Given the description of an element on the screen output the (x, y) to click on. 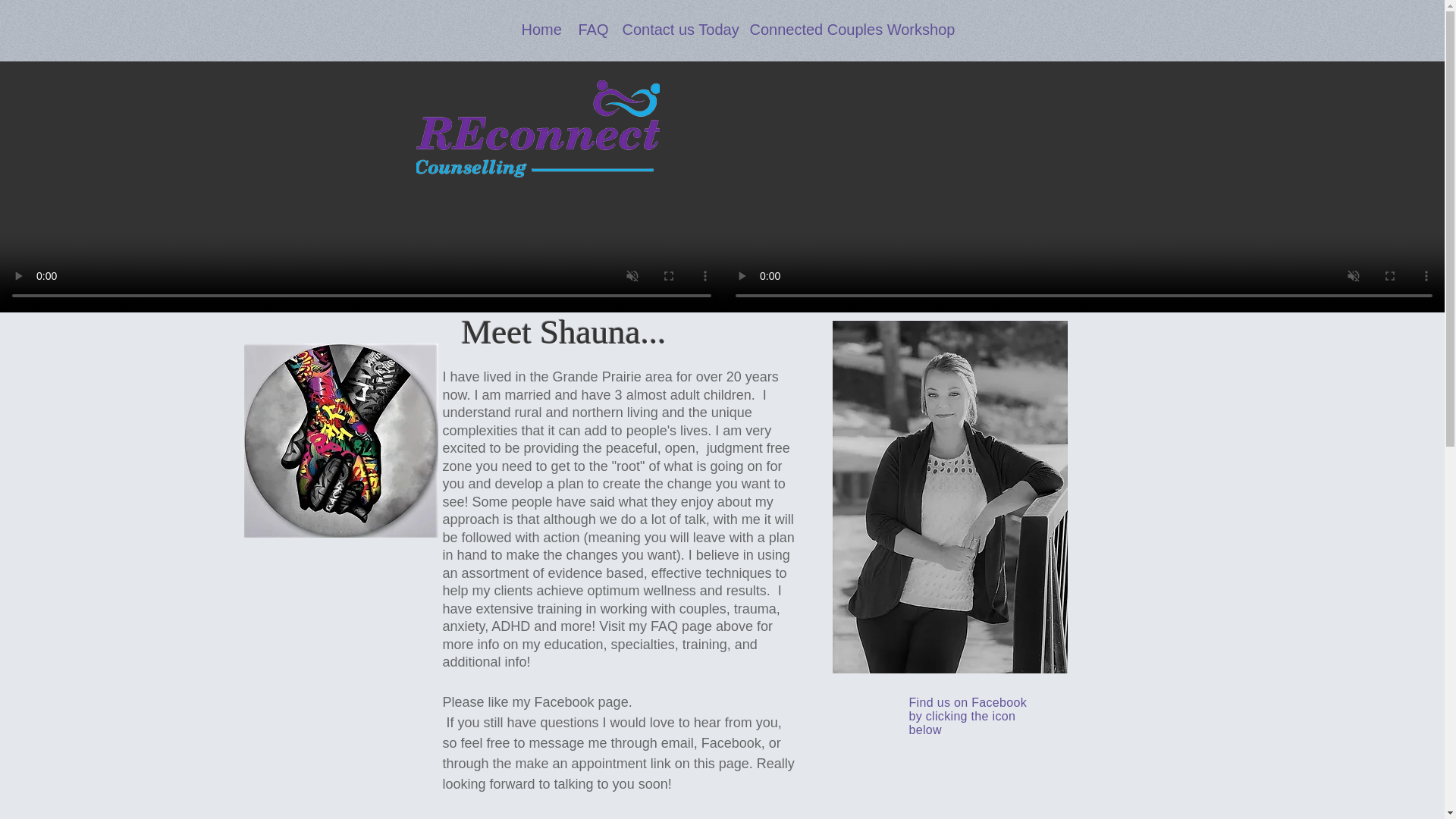
Contact us Today (674, 29)
Connected Couples Workshop (840, 29)
Home (537, 29)
